Given the description of an element on the screen output the (x, y) to click on. 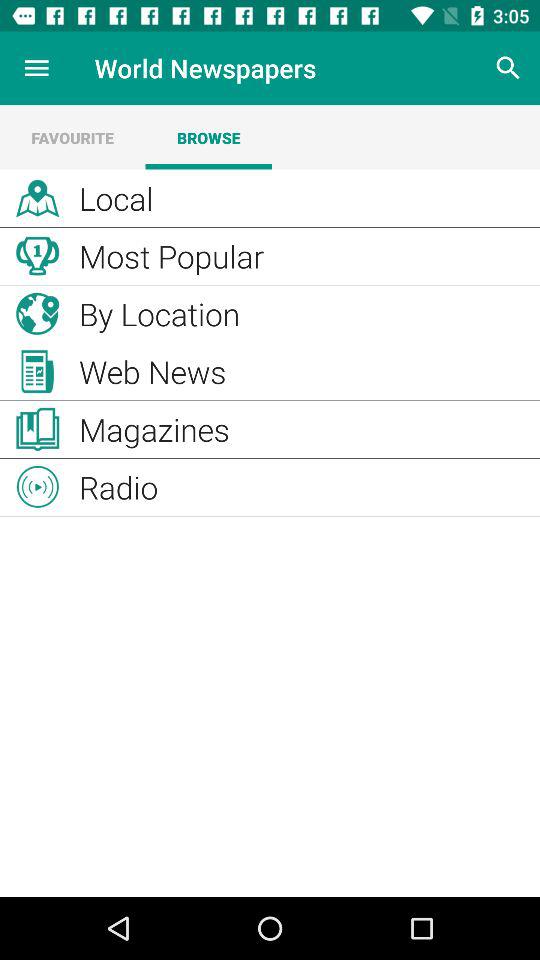
tap the item to the left of the world newspapers item (36, 68)
